Given the description of an element on the screen output the (x, y) to click on. 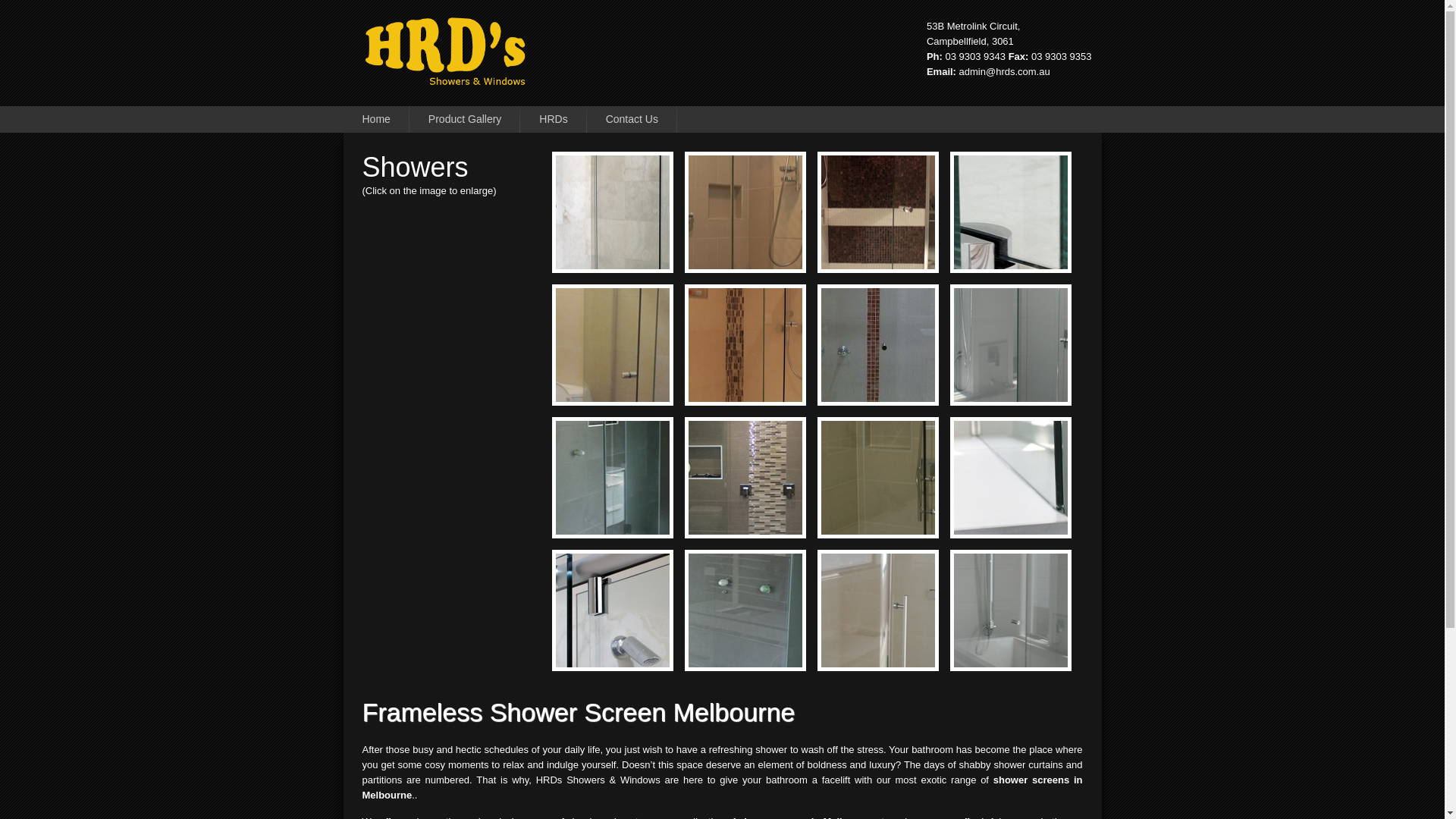
HRDs Element type: text (553, 119)
Fixed_Screen Element type: text (764, 515)
Custom_Semi-Frameless_Screen_2 Element type: text (896, 250)
Product Gallery Element type: text (464, 119)
Semi-Frameless_With_Half_Return_Panel_1 Element type: text (1029, 382)
Front_and_Return_Frameless_Slider Element type: text (630, 250)
Home Element type: text (375, 119)
Frameless_Slider_Mechanism Element type: text (630, 648)
Semi-Frameless Element type: text (764, 382)
Custom_Semi-Frameless_Screen_1 Element type: text (630, 382)
Front_Only_Semi-Frameless_Screen Element type: text (896, 382)
Frameless_Screen Element type: text (764, 250)
Frameless_With_H_Handle Element type: text (896, 515)
Semi-Frameless_With_Half_Return_Panel_2 Element type: text (1029, 515)
Semi-Framed_Pivot_Screen Element type: text (896, 648)
Frameless_Slider_Guide Element type: text (1029, 250)
Contact Us Element type: text (631, 119)
Custom_Semi-Frameless_Screen_3 Element type: text (1029, 648)
